Given the description of an element on the screen output the (x, y) to click on. 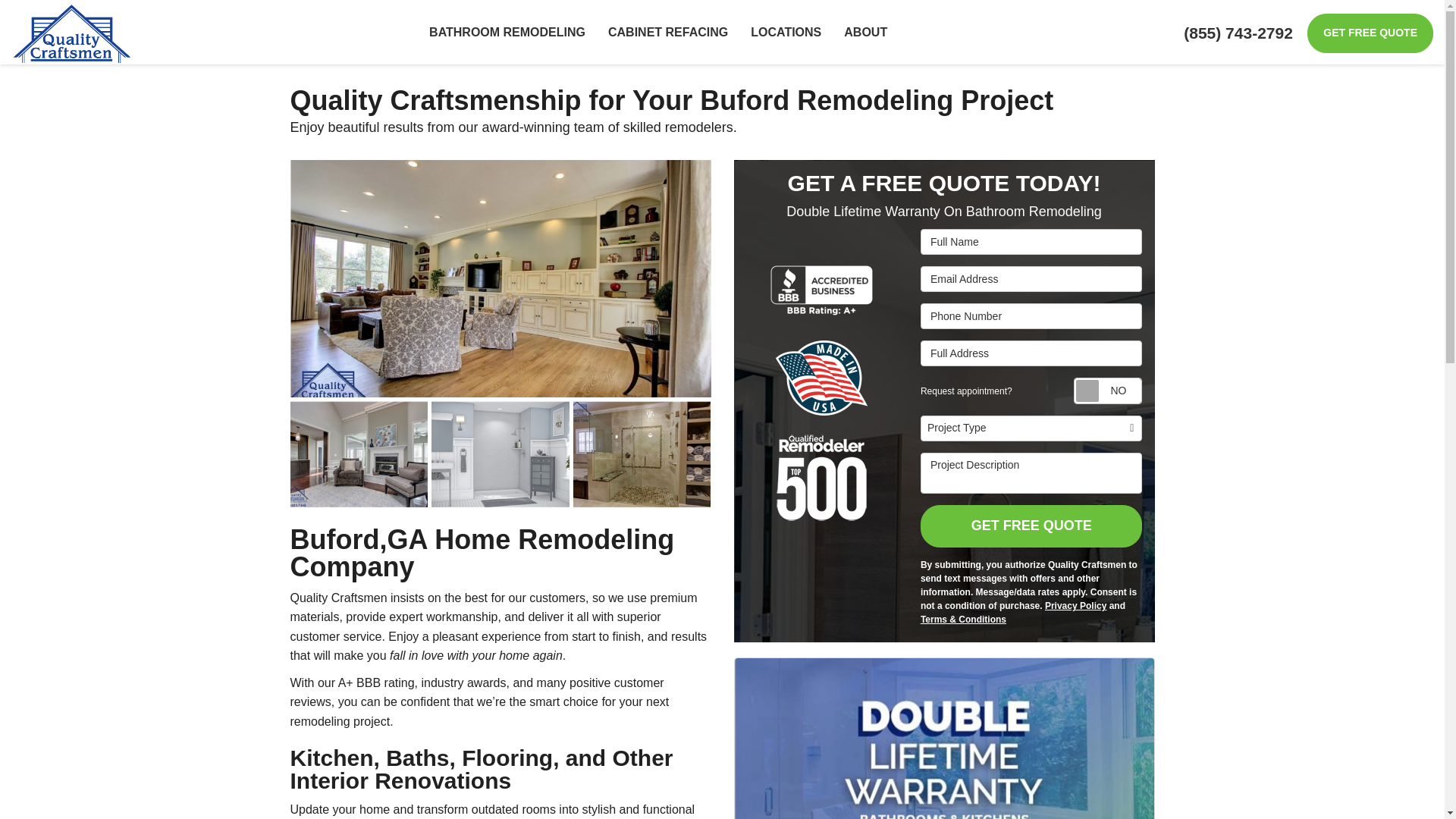
ABOUT (865, 32)
GET FREE QUOTE (1369, 33)
LOCATIONS (785, 32)
GET FREE QUOTE (1369, 33)
CABINET REFACING (667, 32)
BATHROOM REMODELING (506, 32)
